Given the description of an element on the screen output the (x, y) to click on. 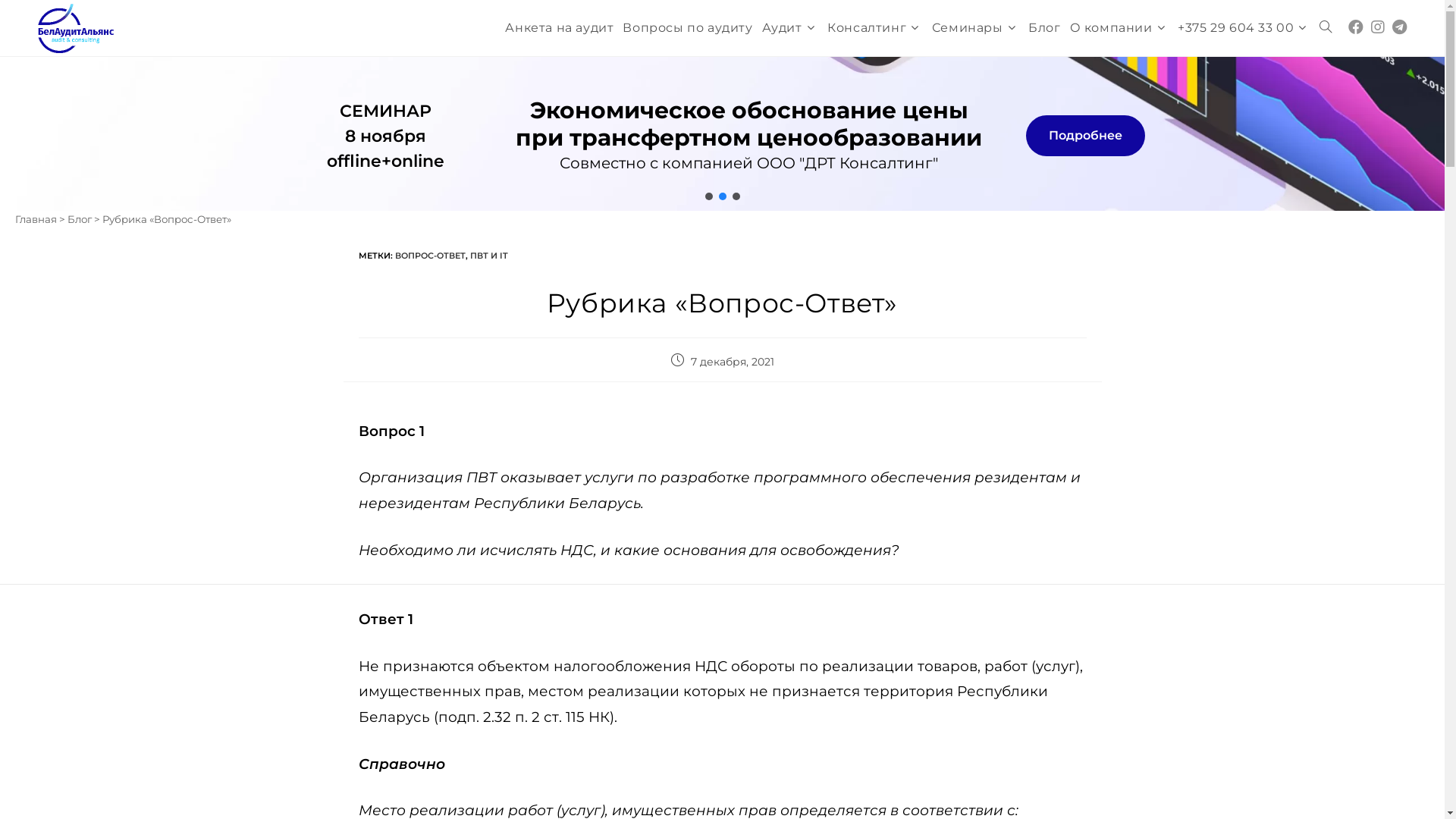
+375 29 604 33 00 Element type: text (1243, 28)
